Given the description of an element on the screen output the (x, y) to click on. 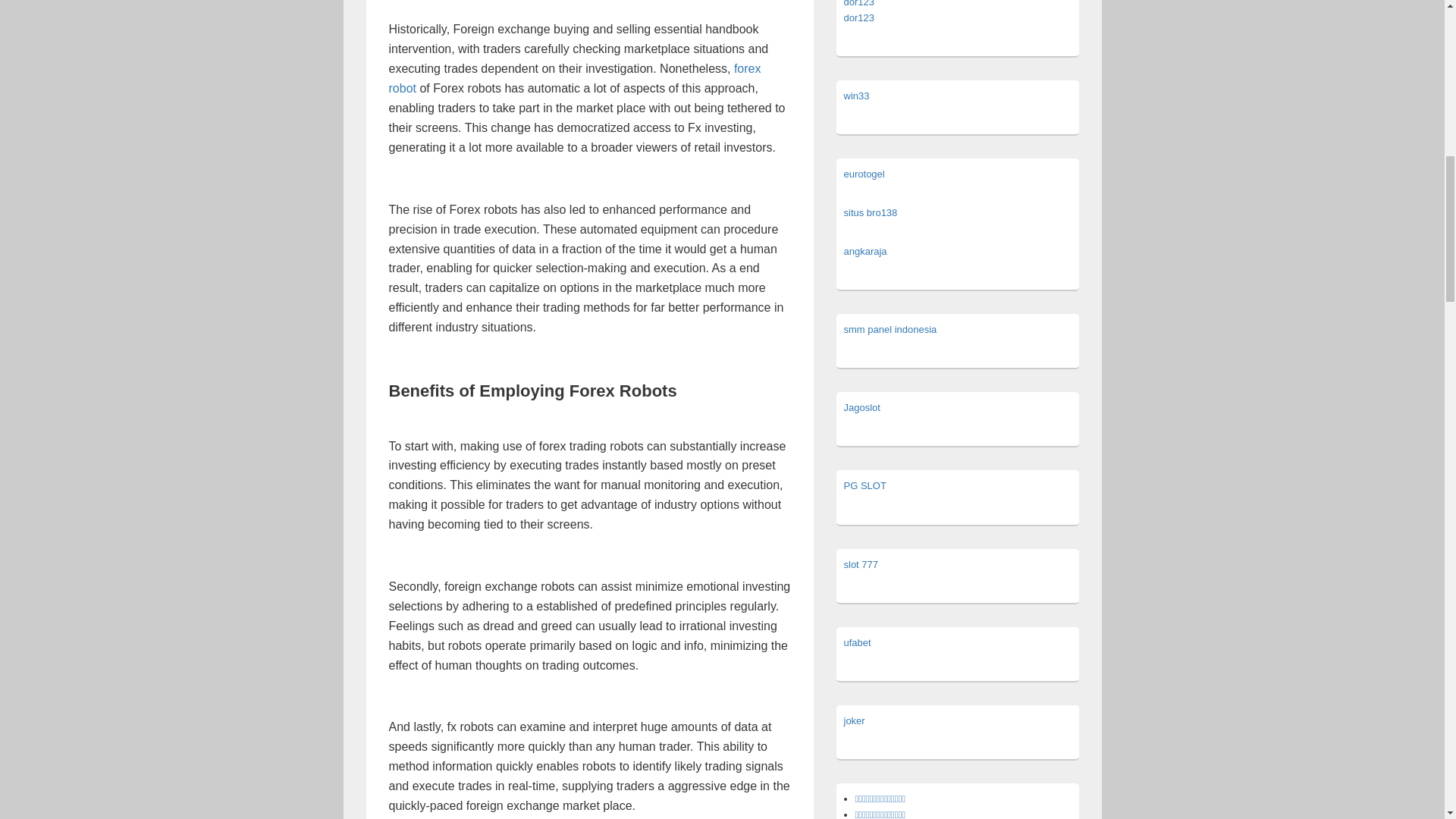
forex robot (574, 78)
